Given the description of an element on the screen output the (x, y) to click on. 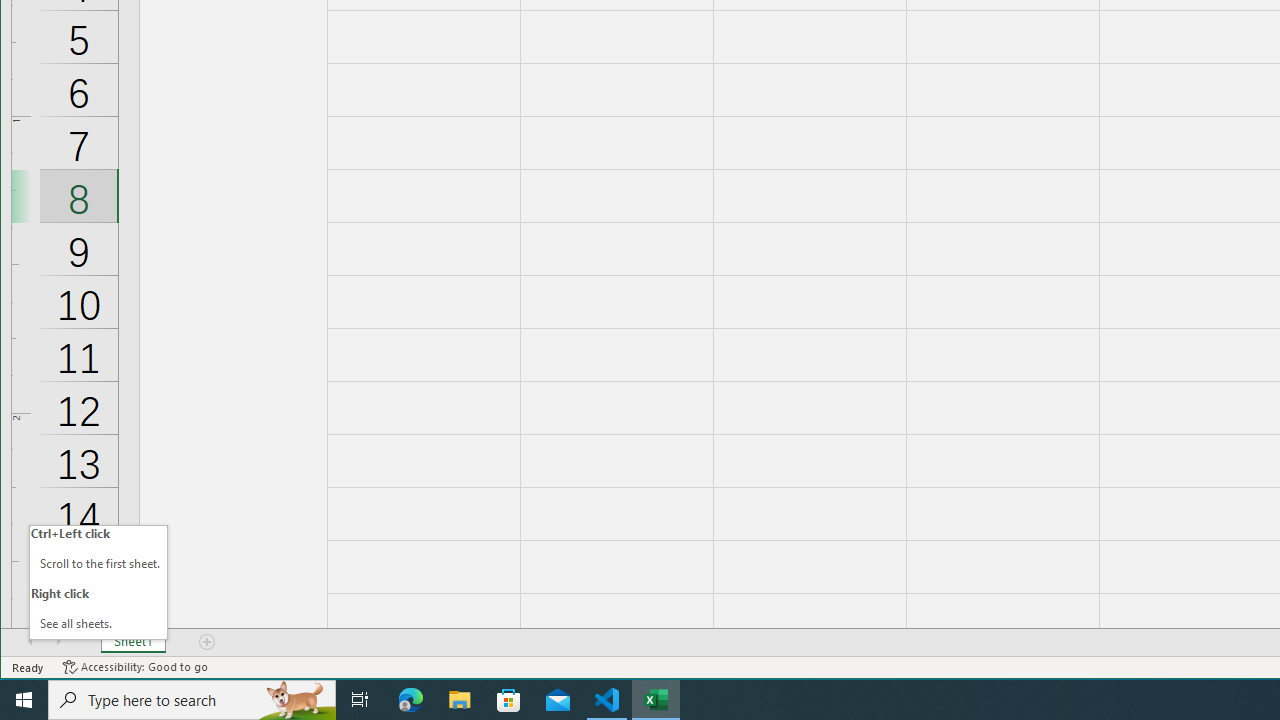
Task View (359, 699)
Search highlights icon opens search home window (295, 699)
Type here to search (191, 699)
Microsoft Store (509, 699)
Excel - 1 running window (656, 699)
Visual Studio Code - 1 running window (607, 699)
File Explorer (460, 699)
Microsoft Edge (411, 699)
Start (24, 699)
